Given the description of an element on the screen output the (x, y) to click on. 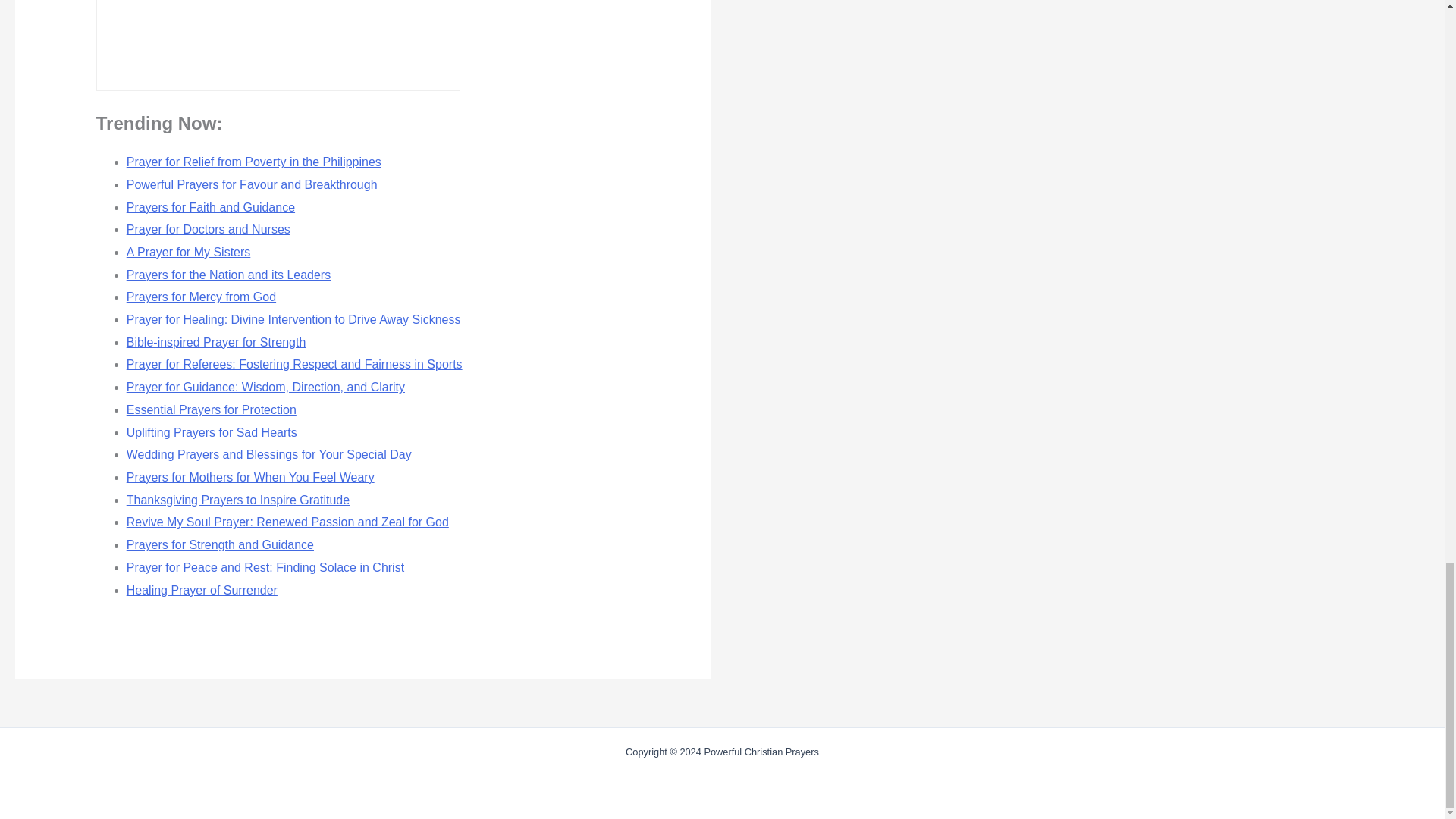
Prayers for Faith and Guidance (210, 206)
Prayer for Doctors and Nurses (207, 228)
Prayer for Guidance: Wisdom, Direction, and Clarity (265, 386)
Bible-inspired Prayer for Strength (215, 341)
Prayer for Relief from Poverty in the Philippines (253, 161)
Powerful Prayers for Favour and Breakthrough (251, 184)
Prayers for Mercy from God (201, 296)
A Prayer for My Sisters (188, 251)
Prayers for the Nation and its Leaders (228, 274)
